Given the description of an element on the screen output the (x, y) to click on. 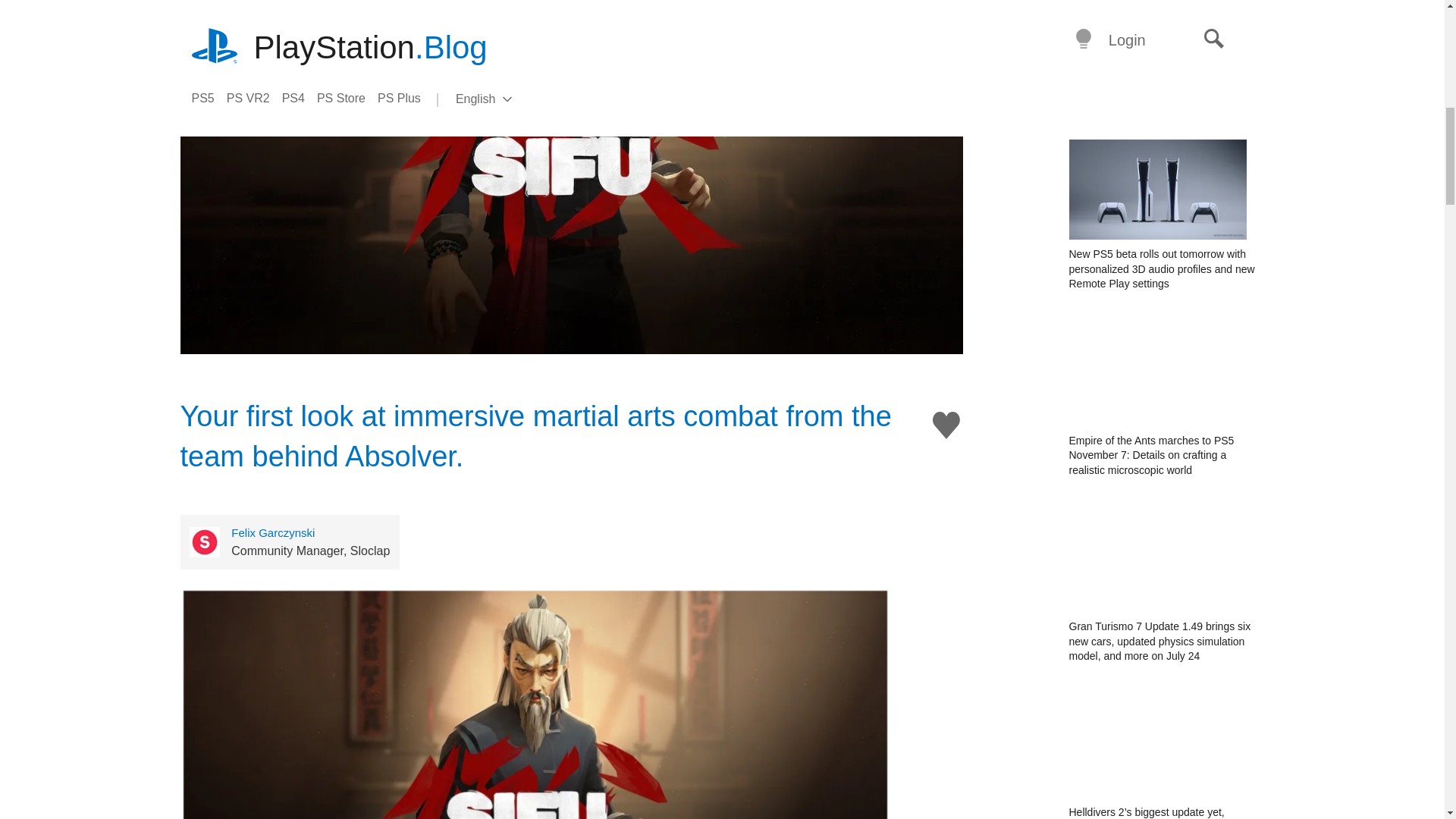
Like this (946, 424)
